Given the description of an element on the screen output the (x, y) to click on. 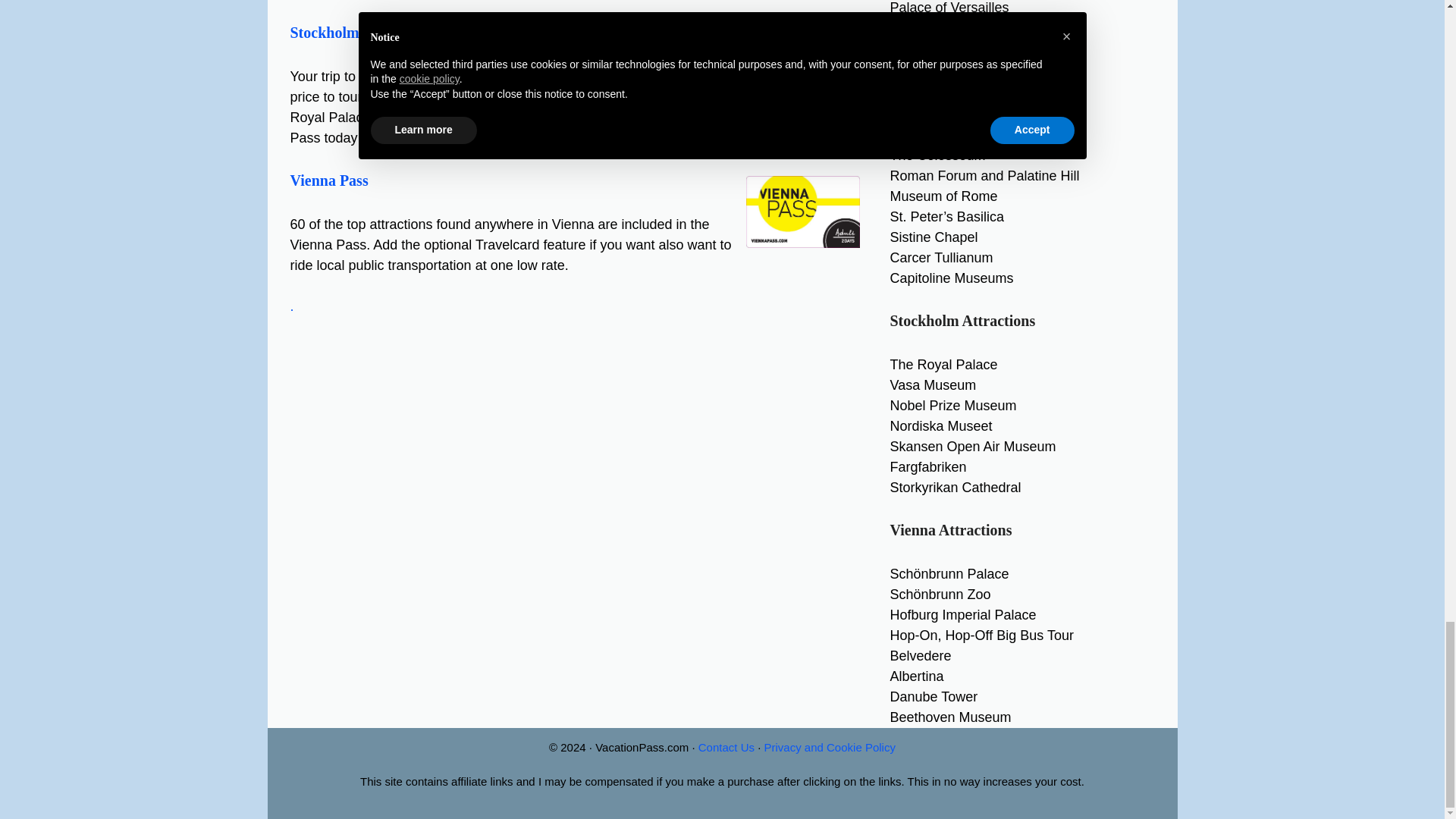
Privacy (829, 747)
Contact Us (726, 747)
